Given the description of an element on the screen output the (x, y) to click on. 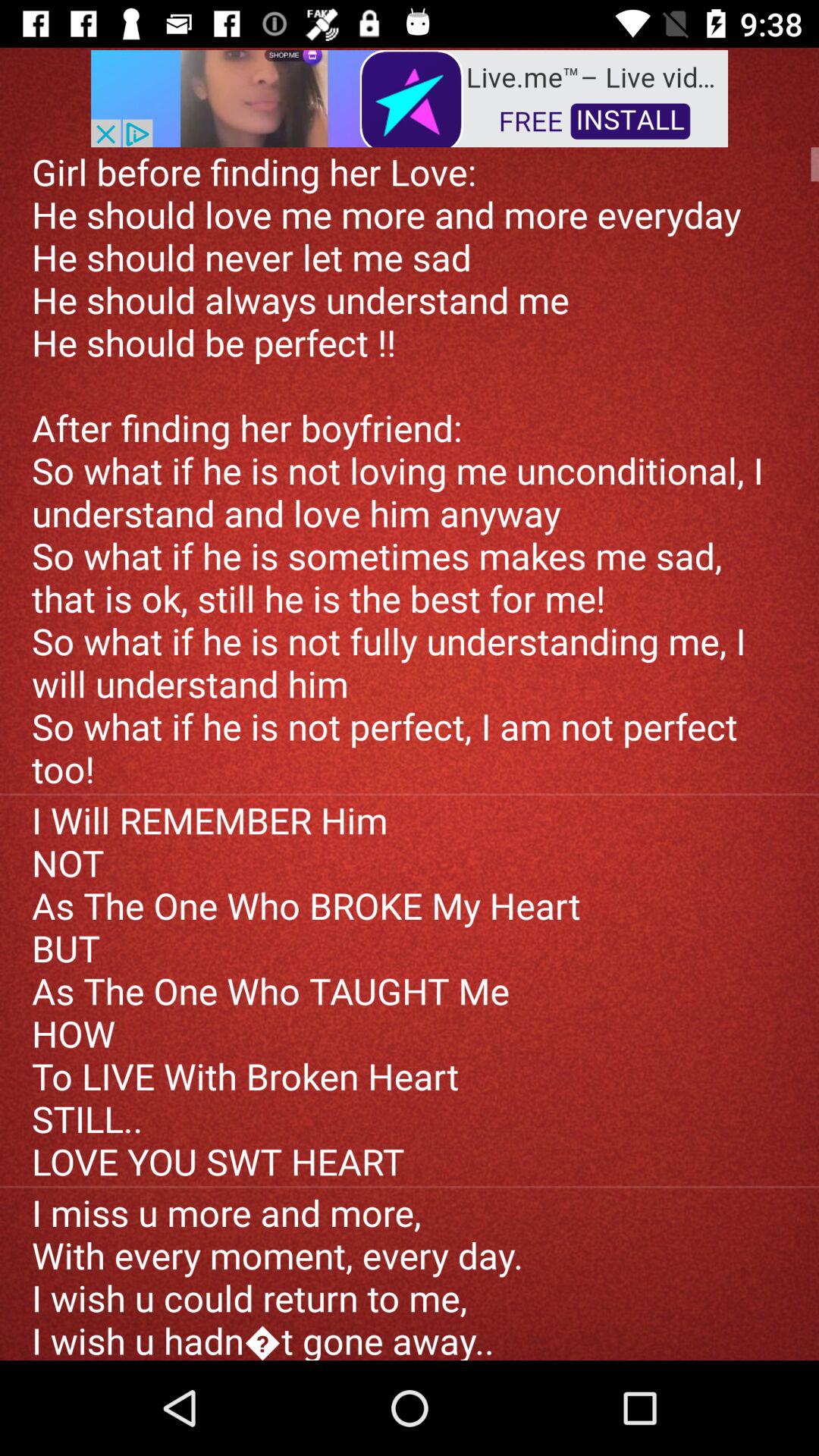
view advertisement in new app (409, 97)
